Given the description of an element on the screen output the (x, y) to click on. 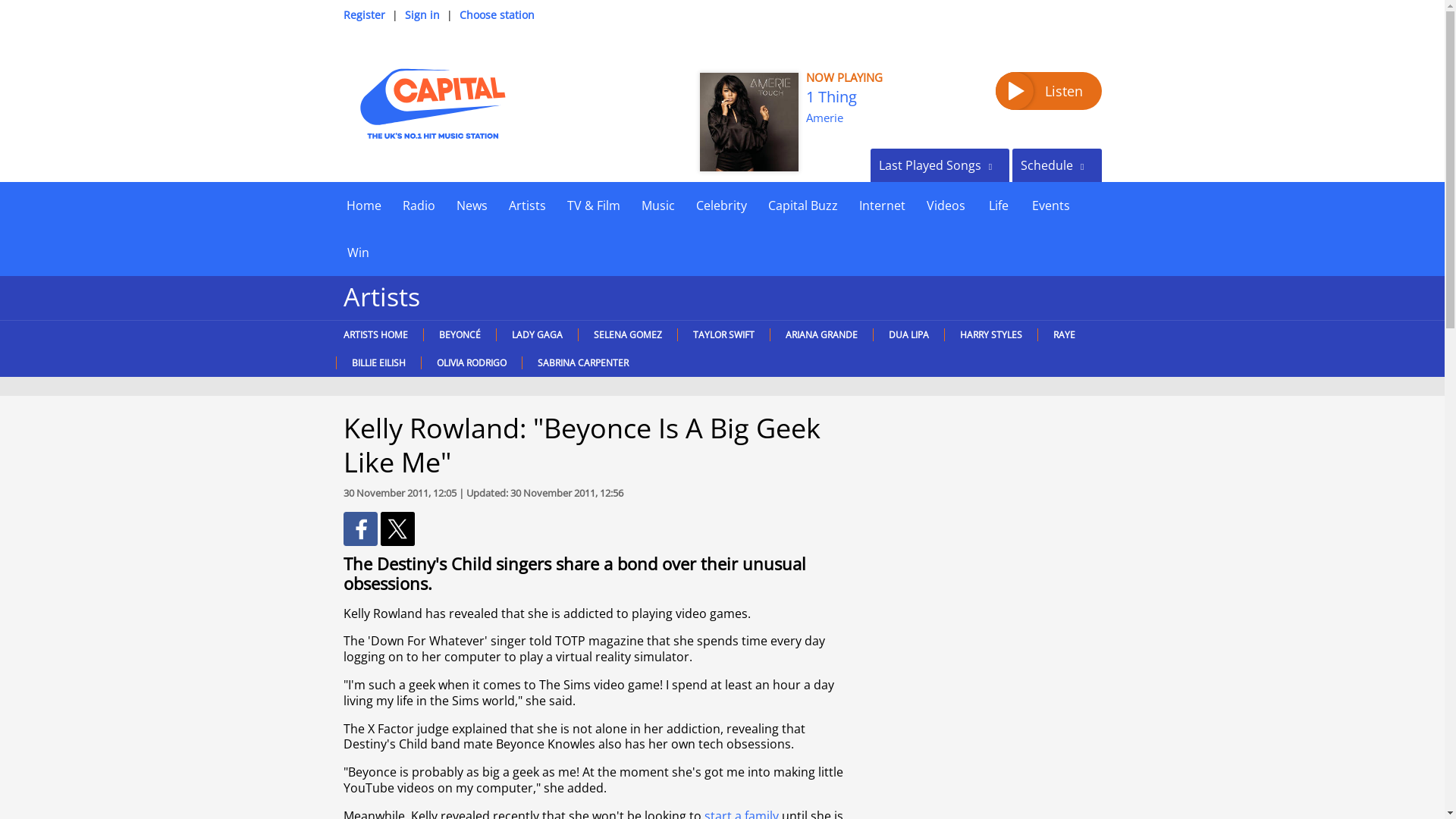
Capital (431, 103)
LADY GAGA (537, 334)
RAYE (1063, 334)
Music (657, 205)
ARIANA GRANDE (820, 334)
Win (357, 252)
ARTISTS HOME (378, 334)
Celebrity (721, 205)
Capital Buzz (802, 205)
HARRY STYLES (989, 334)
Schedule (1055, 164)
DUA LIPA (907, 334)
Sign in (421, 14)
Listen (1047, 90)
Choose station (497, 14)
